Given the description of an element on the screen output the (x, y) to click on. 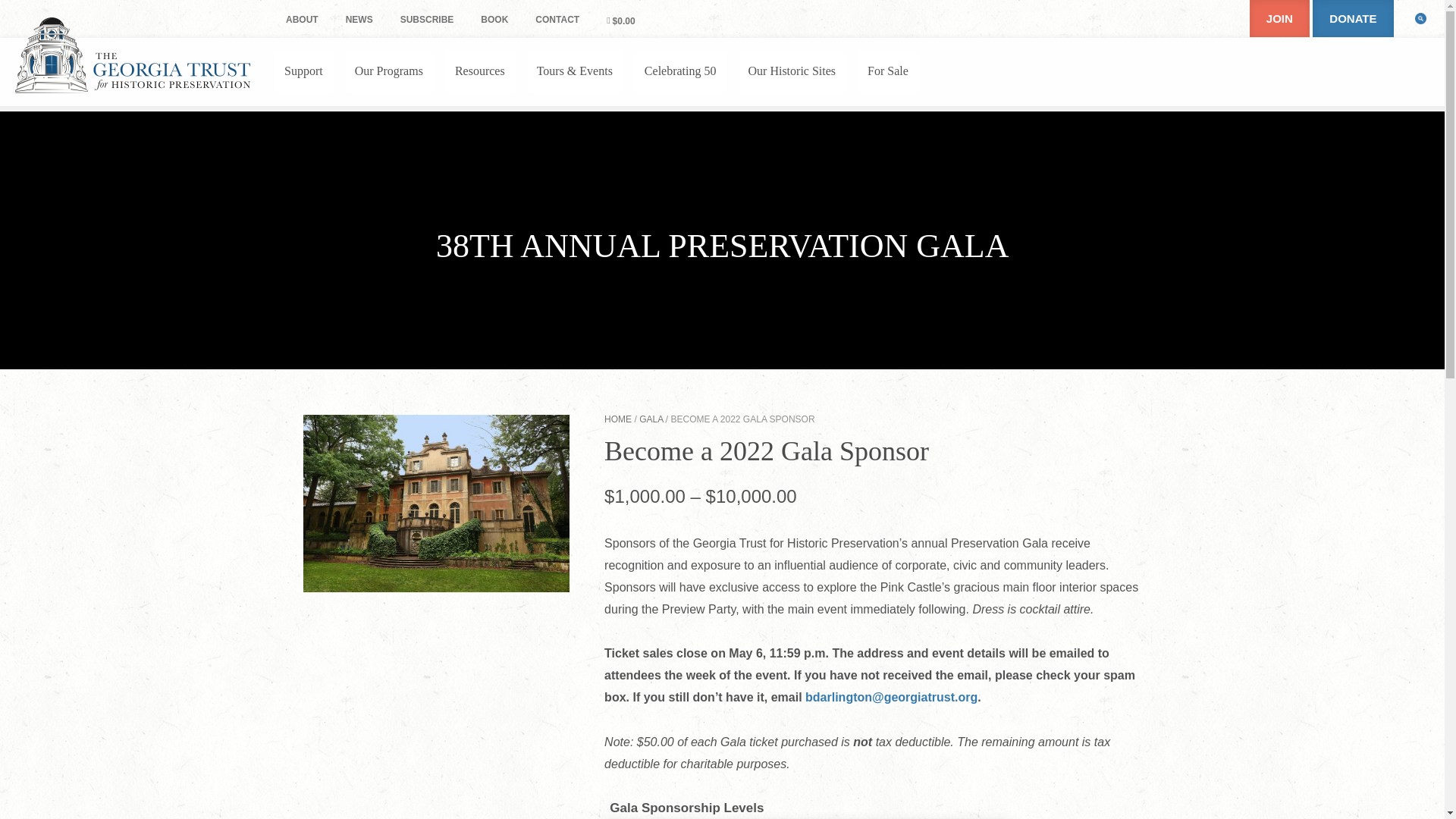
BOOK (494, 19)
ABOUT (302, 19)
SUBSCRIBE (427, 19)
NEWS (358, 19)
Our Programs (389, 70)
Start shopping (620, 20)
CONTACT (556, 19)
Support (303, 70)
The Georgia Trust (132, 55)
